Given the description of an element on the screen output the (x, y) to click on. 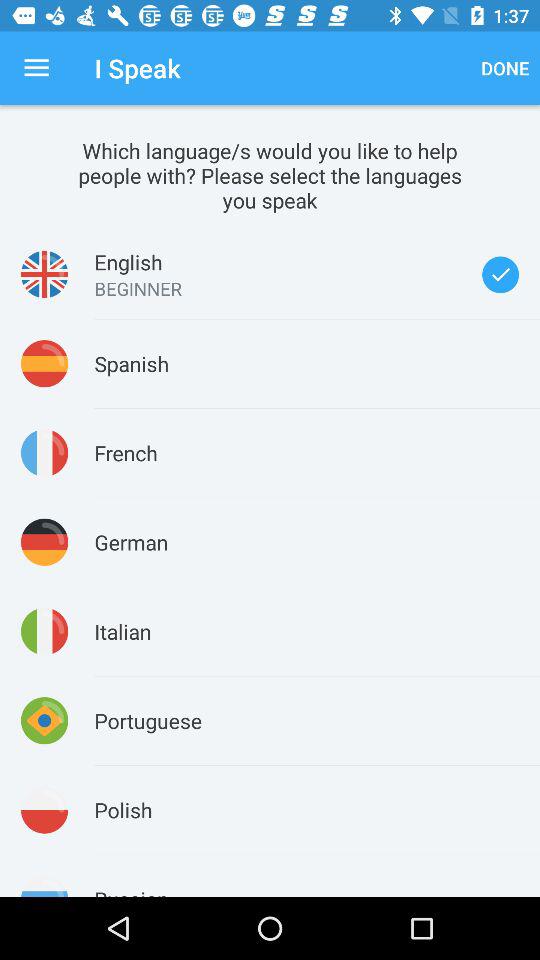
click on the icon left to portuguese (44, 720)
go to the icon beside last option (44, 886)
